Given the description of an element on the screen output the (x, y) to click on. 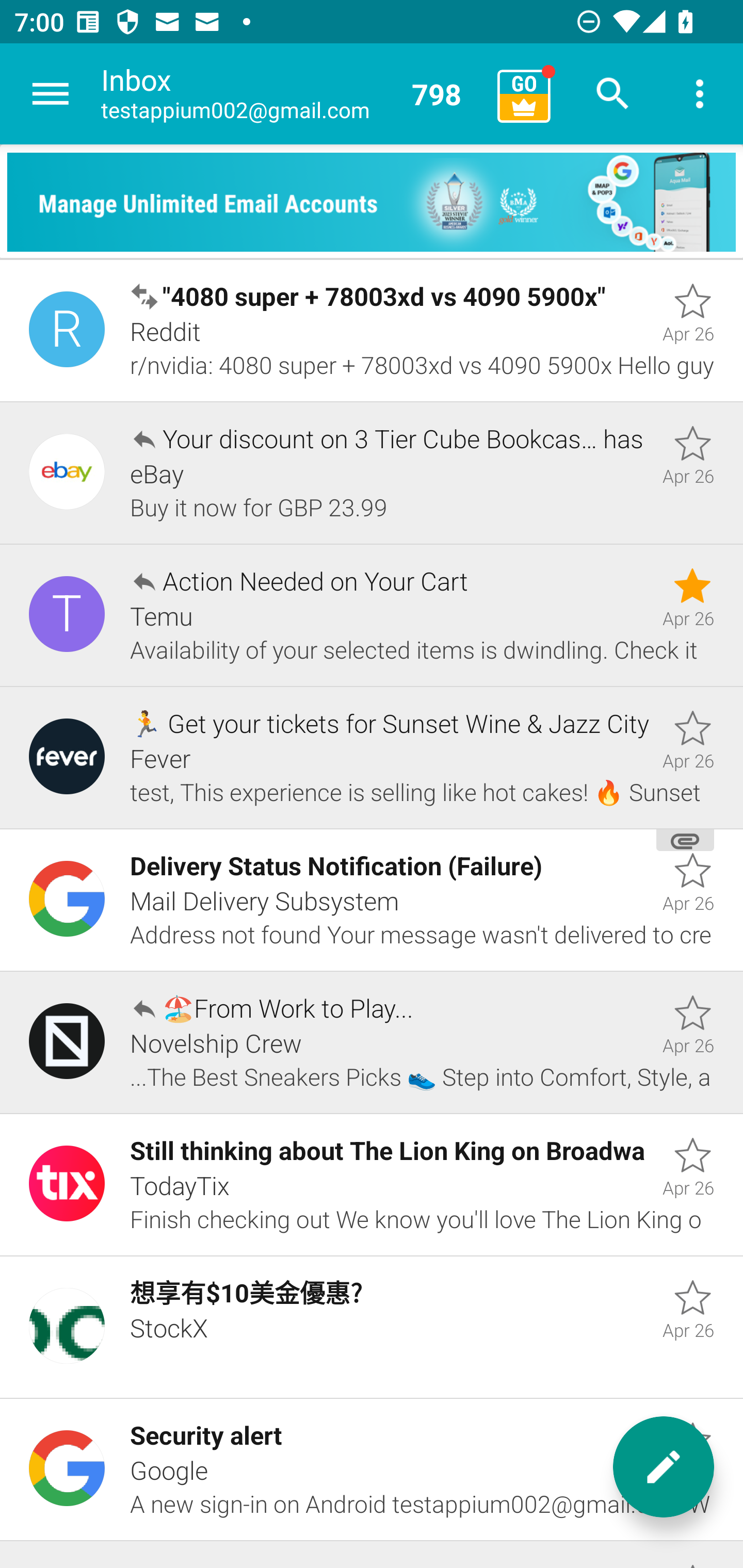
Navigate up (50, 93)
Inbox testappium002@gmail.com 798 (291, 93)
Search (612, 93)
More options (699, 93)
Unread, 想享有$10美金優惠?, StockX, Apr 26 (371, 1326)
New message (663, 1466)
